Given the description of an element on the screen output the (x, y) to click on. 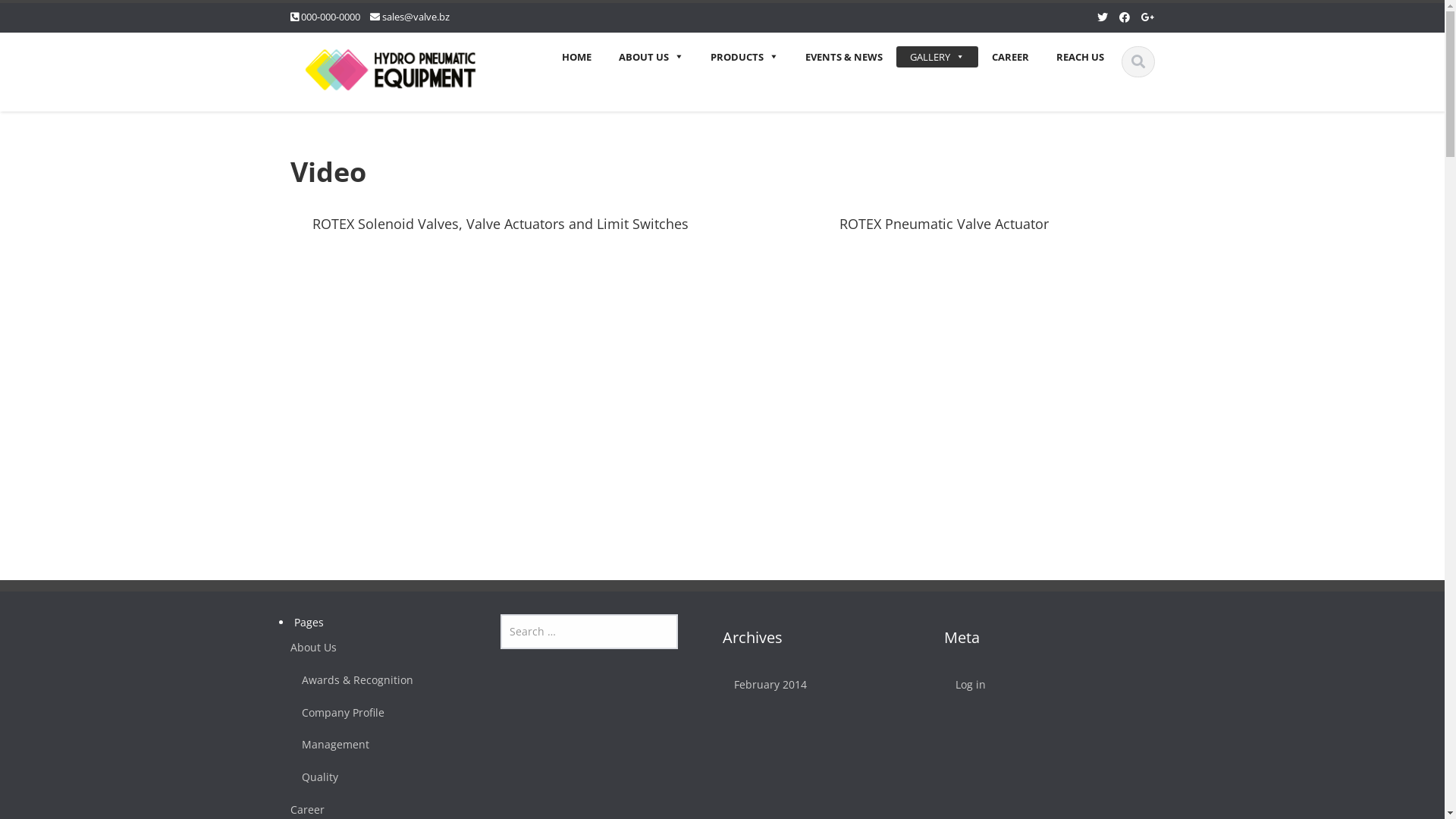
Awards & Recognition Element type: text (372, 680)
Quality Element type: text (372, 777)
HOME Element type: text (575, 56)
CAREER Element type: text (1010, 56)
Hydro Pneumatic Equipment Element type: hover (389, 66)
Management Element type: text (372, 744)
REACH US Element type: text (1079, 56)
ABOUT US Element type: text (650, 56)
000-000-0000 Element type: text (329, 16)
GALLERY Element type: text (937, 56)
PRODUCTS Element type: text (743, 56)
Search Element type: text (36, 16)
February 2014 Element type: text (810, 684)
Company Profile Element type: text (372, 712)
About Us Element type: text (367, 647)
EVENTS & NEWS Element type: text (843, 56)
Log in Element type: text (1032, 684)
sales@valve.bz Element type: text (415, 16)
